Given the description of an element on the screen output the (x, y) to click on. 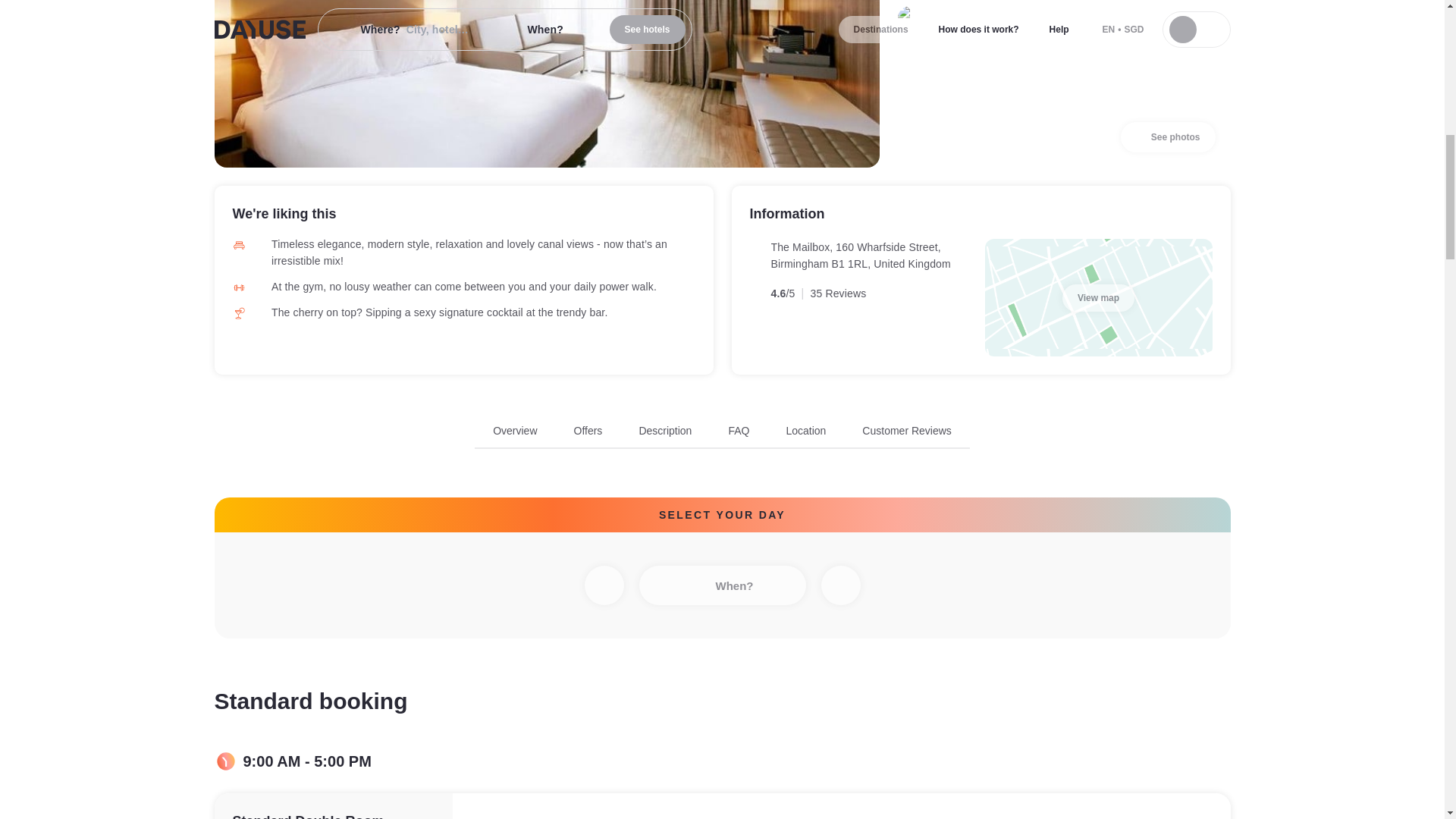
See photos (1168, 137)
Previous day (603, 585)
Overview (515, 430)
Description (665, 430)
When? (722, 585)
Customer Reviews (905, 430)
Offers (587, 430)
View map (1098, 298)
FAQ (738, 430)
Next day (840, 585)
